Given the description of an element on the screen output the (x, y) to click on. 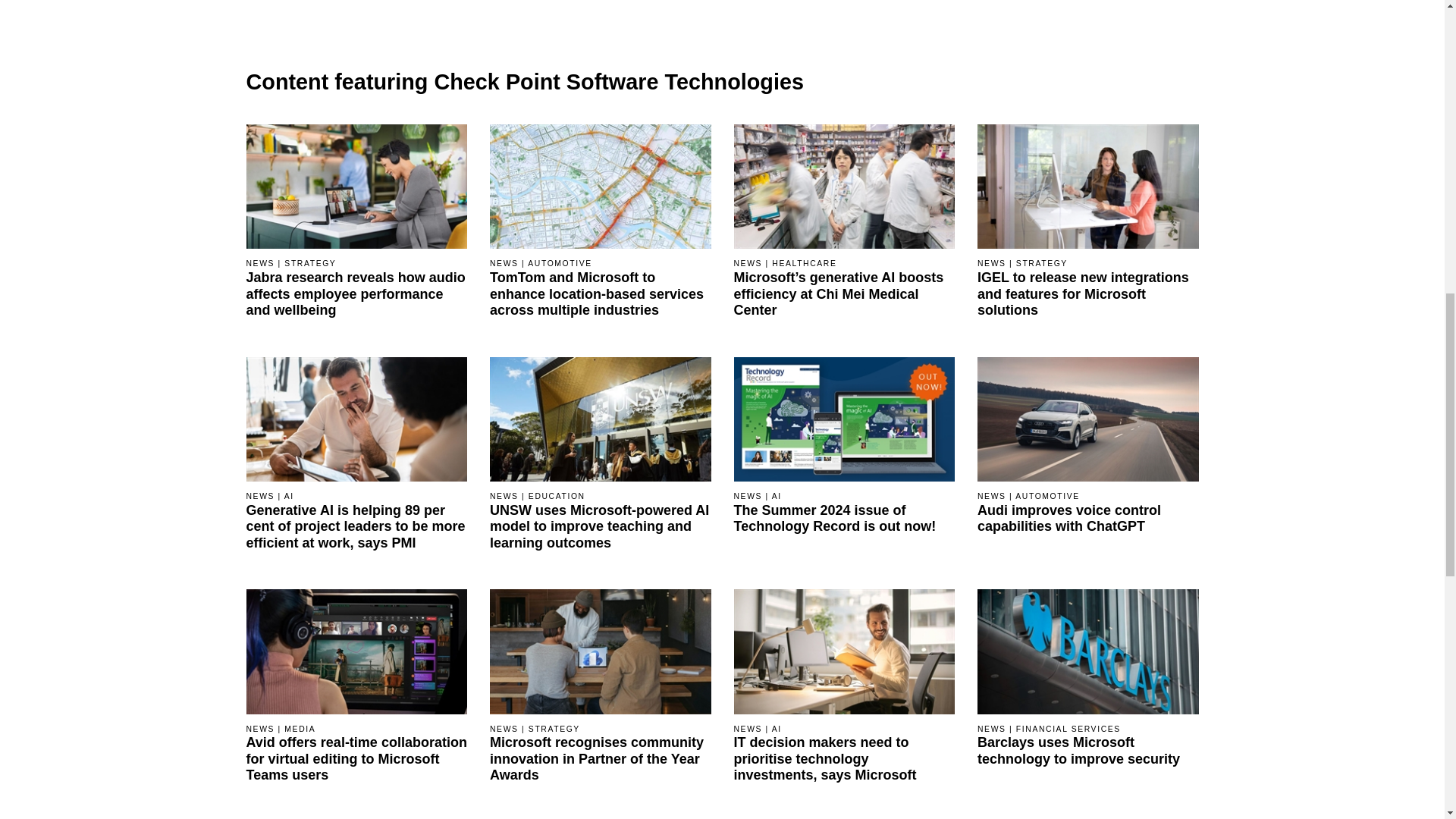
The Summer 2024 issue of Technology Record is out now! (844, 518)
Audi improves voice control capabilities with ChatGPT (1087, 418)
3rd party ad content (1044, 10)
The Summer 2024 issue of Technology Record is out now! (844, 418)
